Given the description of an element on the screen output the (x, y) to click on. 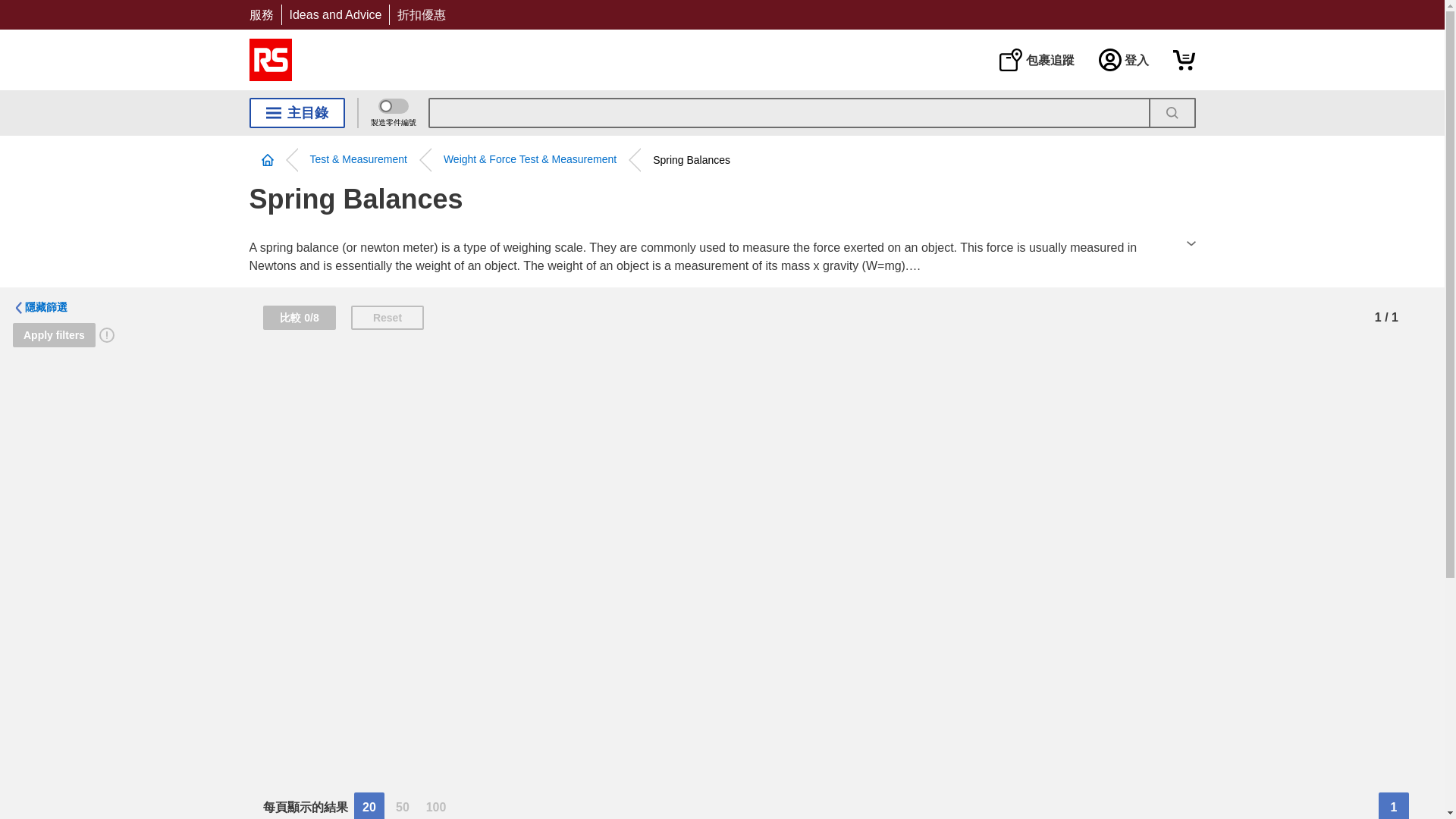
1 (1393, 805)
Apply filters (54, 334)
20 (368, 805)
50 (402, 805)
Reset (386, 317)
Ideas and Advice (335, 14)
100 (435, 805)
